Given the description of an element on the screen output the (x, y) to click on. 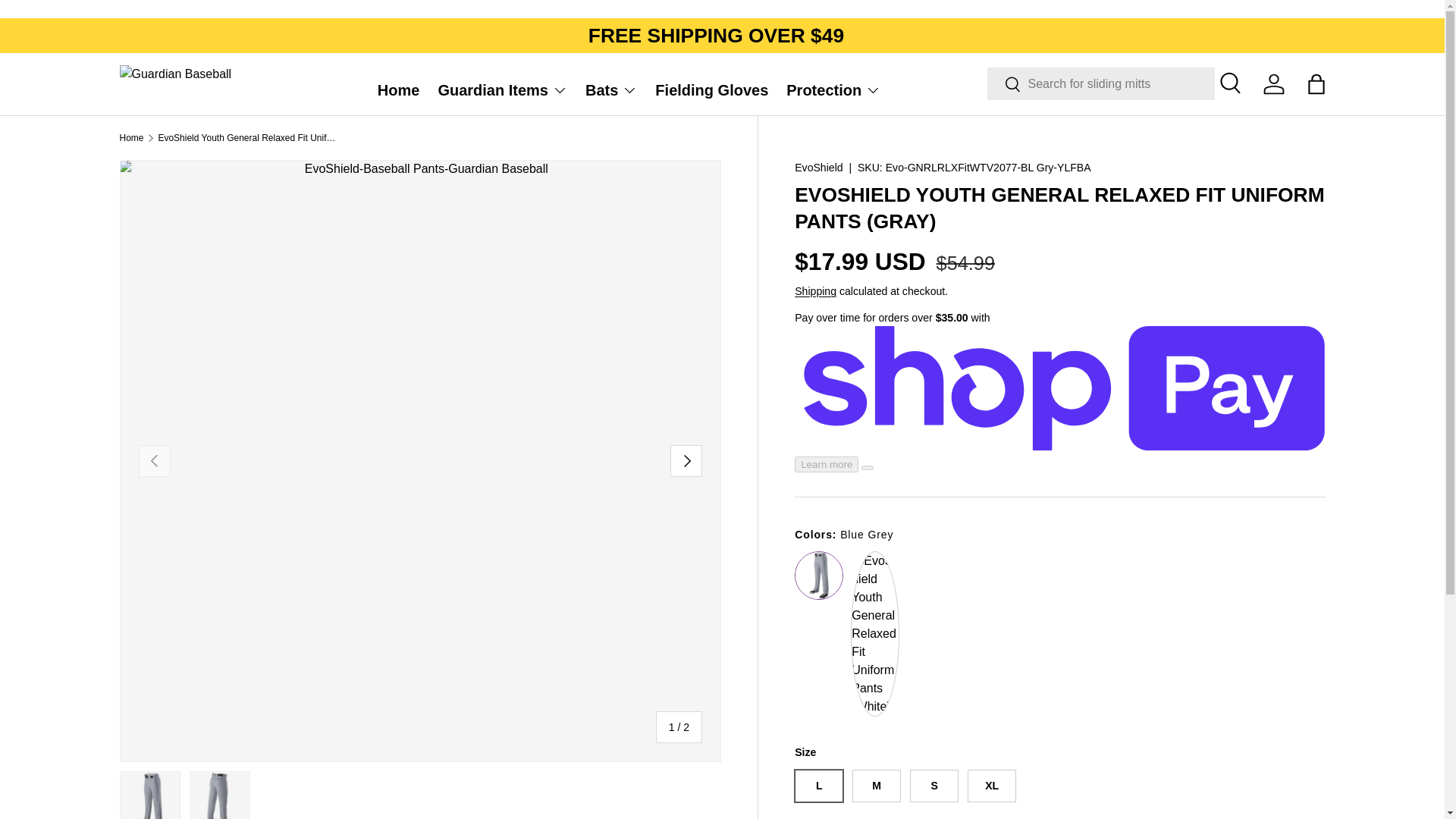
Fielding Gloves (711, 90)
Protection (833, 90)
Home (398, 90)
Bats (611, 90)
Guardian Items (502, 90)
SKIP TO CONTENT (68, 21)
